Given the description of an element on the screen output the (x, y) to click on. 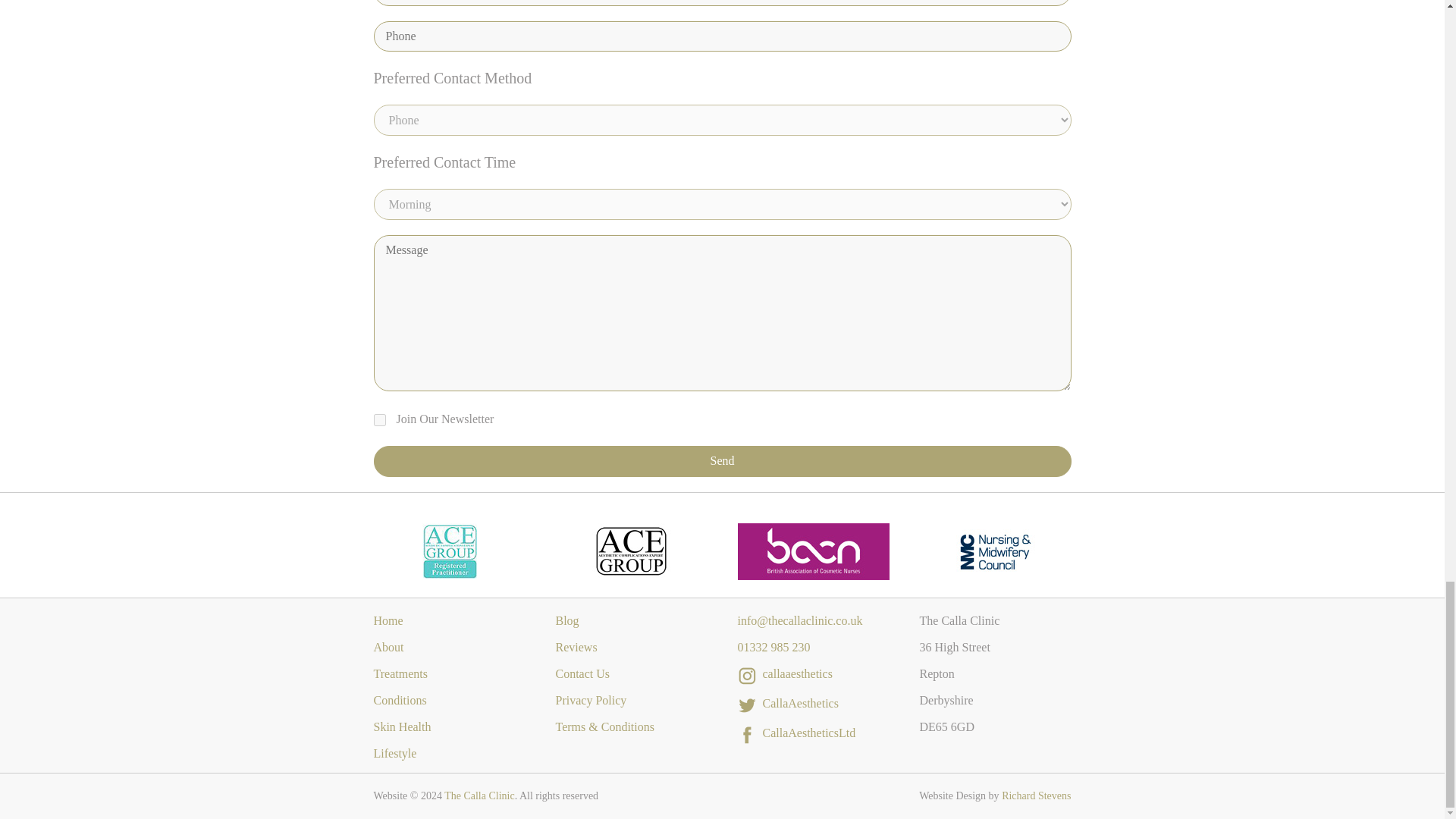
Join Our Newsletter (378, 419)
Send (721, 460)
Visit Richard-Stevens.com (1035, 795)
